Given the description of an element on the screen output the (x, y) to click on. 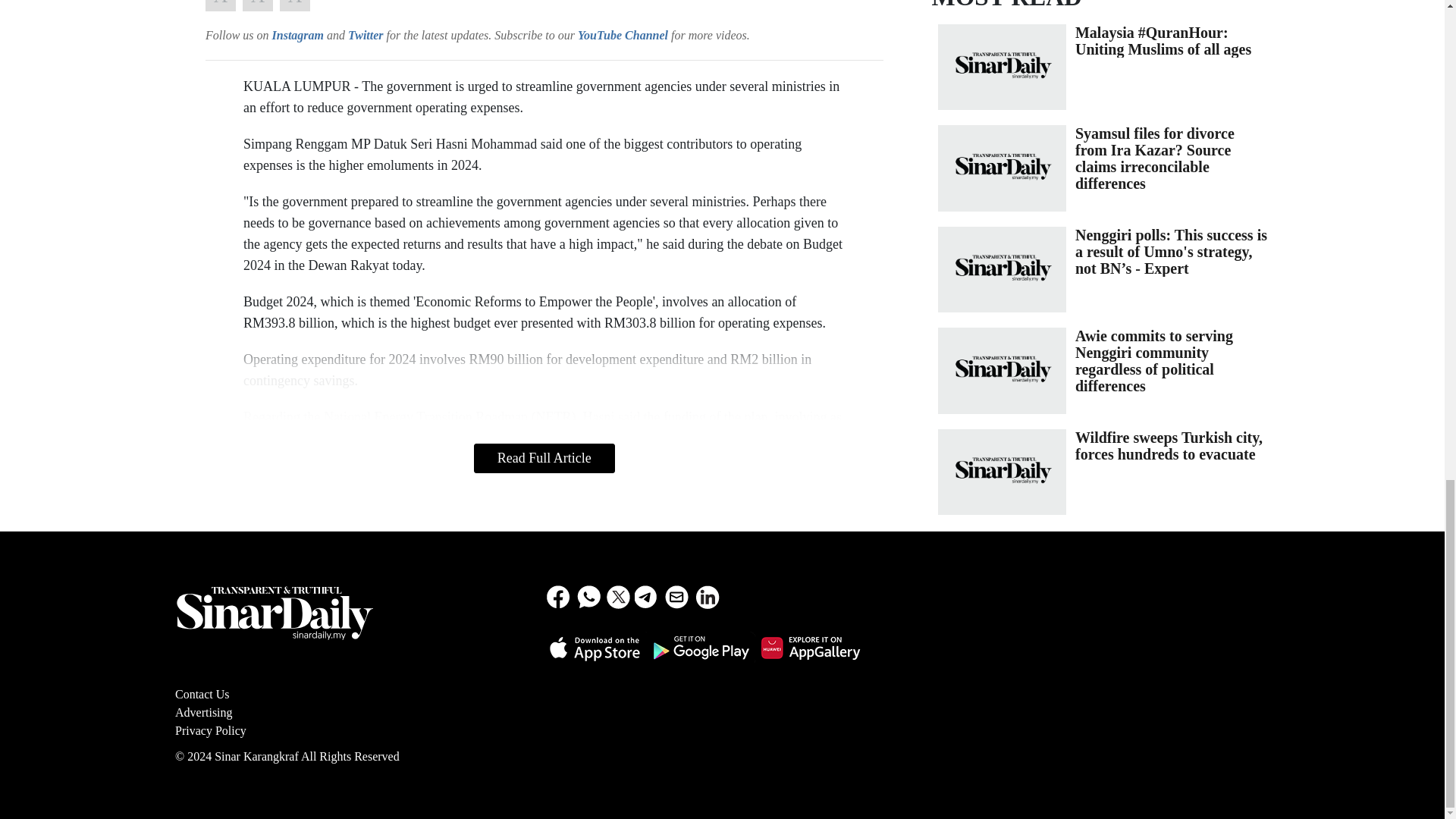
Teks Besar (294, 5)
Teks Kecil (220, 5)
Teks Asal (258, 5)
